Given the description of an element on the screen output the (x, y) to click on. 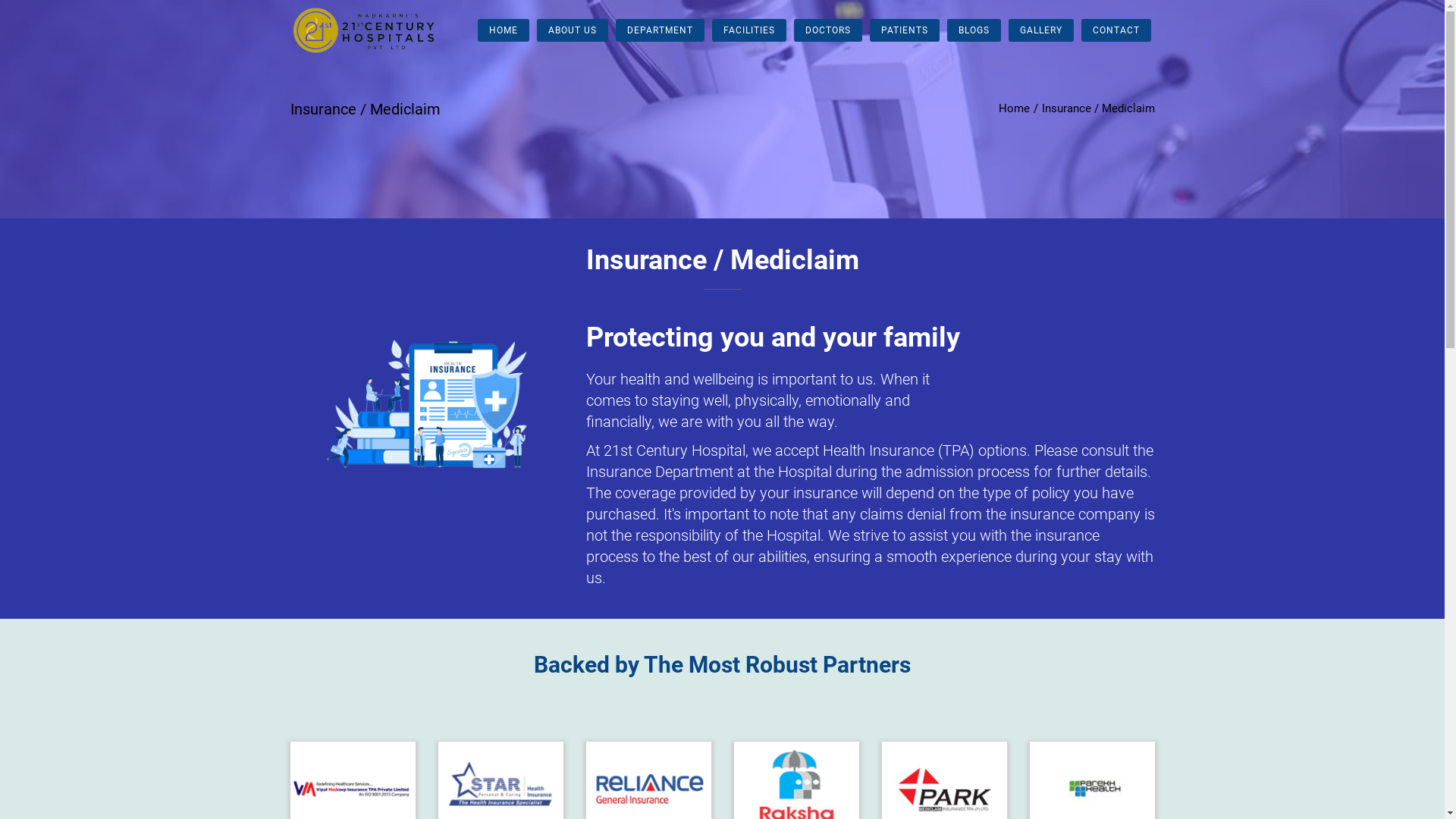
BLOGS Element type: text (973, 29)
FACILITIES Element type: text (748, 29)
PATIENTS Element type: text (903, 29)
HOME Element type: text (503, 29)
ABOUT US Element type: text (572, 29)
CONTACT Element type: text (1116, 29)
Home Element type: text (1013, 108)
DEPARTMENT Element type: text (659, 29)
DOCTORS Element type: text (827, 29)
GALLERY Element type: text (1040, 29)
